Given the description of an element on the screen output the (x, y) to click on. 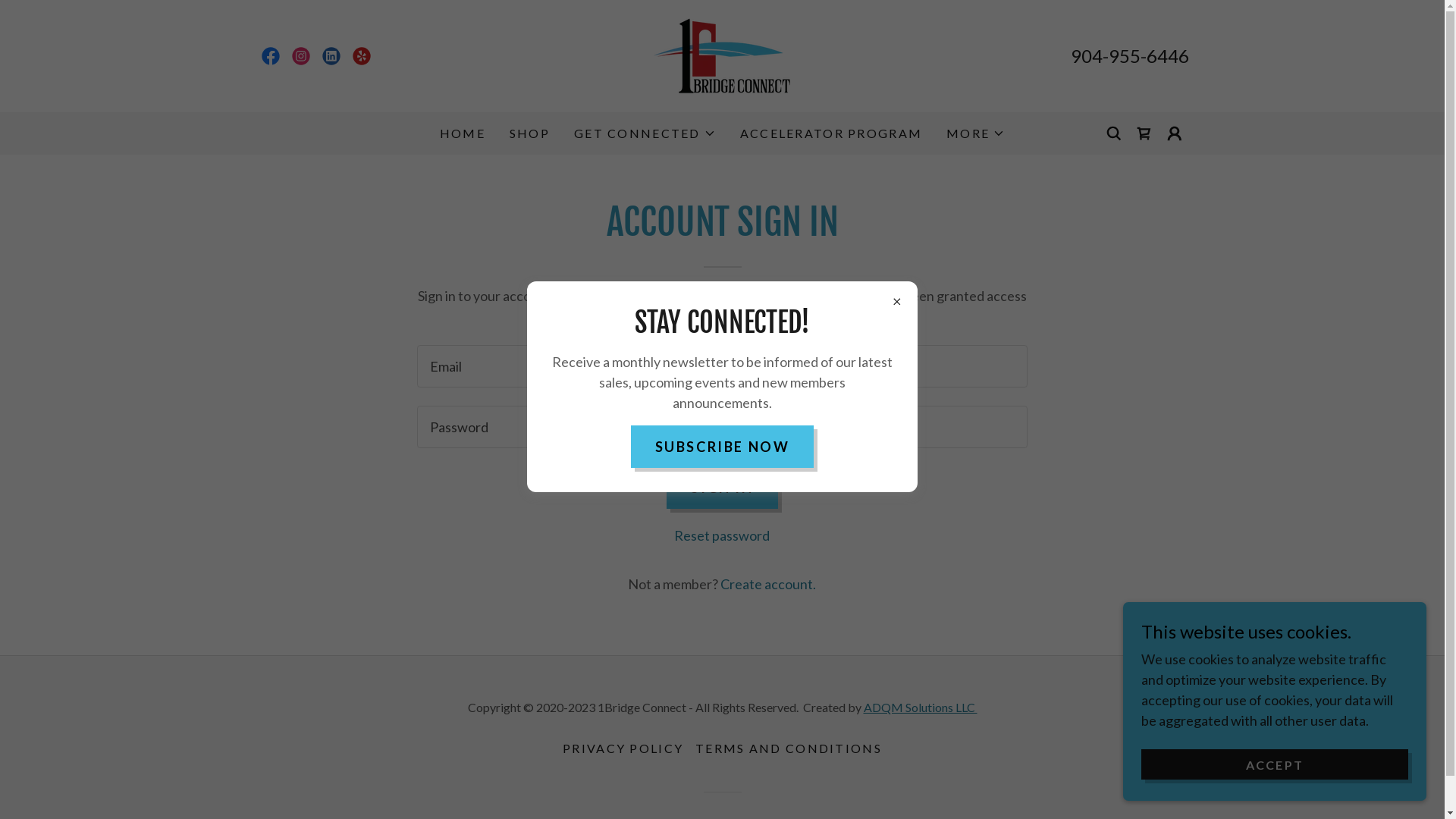
SUBSCRIBE NOW Element type: text (721, 446)
GET CONNECTED Element type: text (644, 133)
ACCEPT Element type: text (1274, 764)
Create account. Element type: text (767, 583)
SIGN IN Element type: text (721, 487)
MORE Element type: text (975, 133)
Reset password Element type: text (721, 535)
HOME Element type: text (462, 133)
TERMS AND CONDITIONS Element type: text (788, 747)
904-955-6446 Element type: text (1129, 55)
PRIVACY POLICY Element type: text (622, 747)
ACCELERATOR PROGRAM Element type: text (830, 133)
SHOP Element type: text (529, 133)
1Bridge Connect Element type: hover (721, 54)
ADQM Solutions LLC  Element type: text (919, 706)
